Given the description of an element on the screen output the (x, y) to click on. 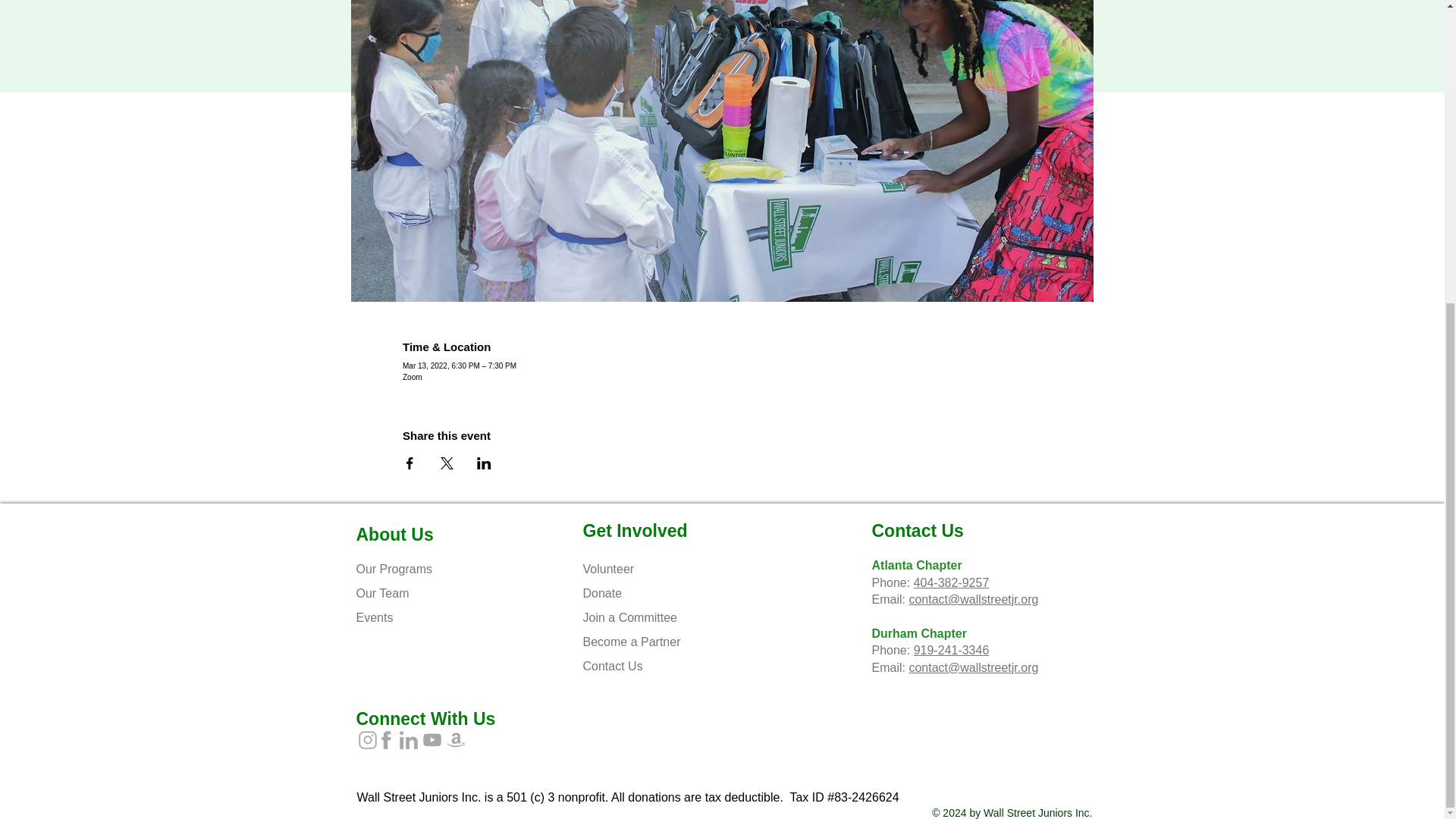
Contact Us (612, 666)
Donate  (603, 593)
Volunteer  (609, 568)
Become a Partner  (632, 641)
Our Team  (384, 593)
Events  (376, 617)
919-241-3346 (952, 649)
Join a Committee  (630, 617)
404-382-9257 (952, 582)
Our Programs  (395, 568)
